Given the description of an element on the screen output the (x, y) to click on. 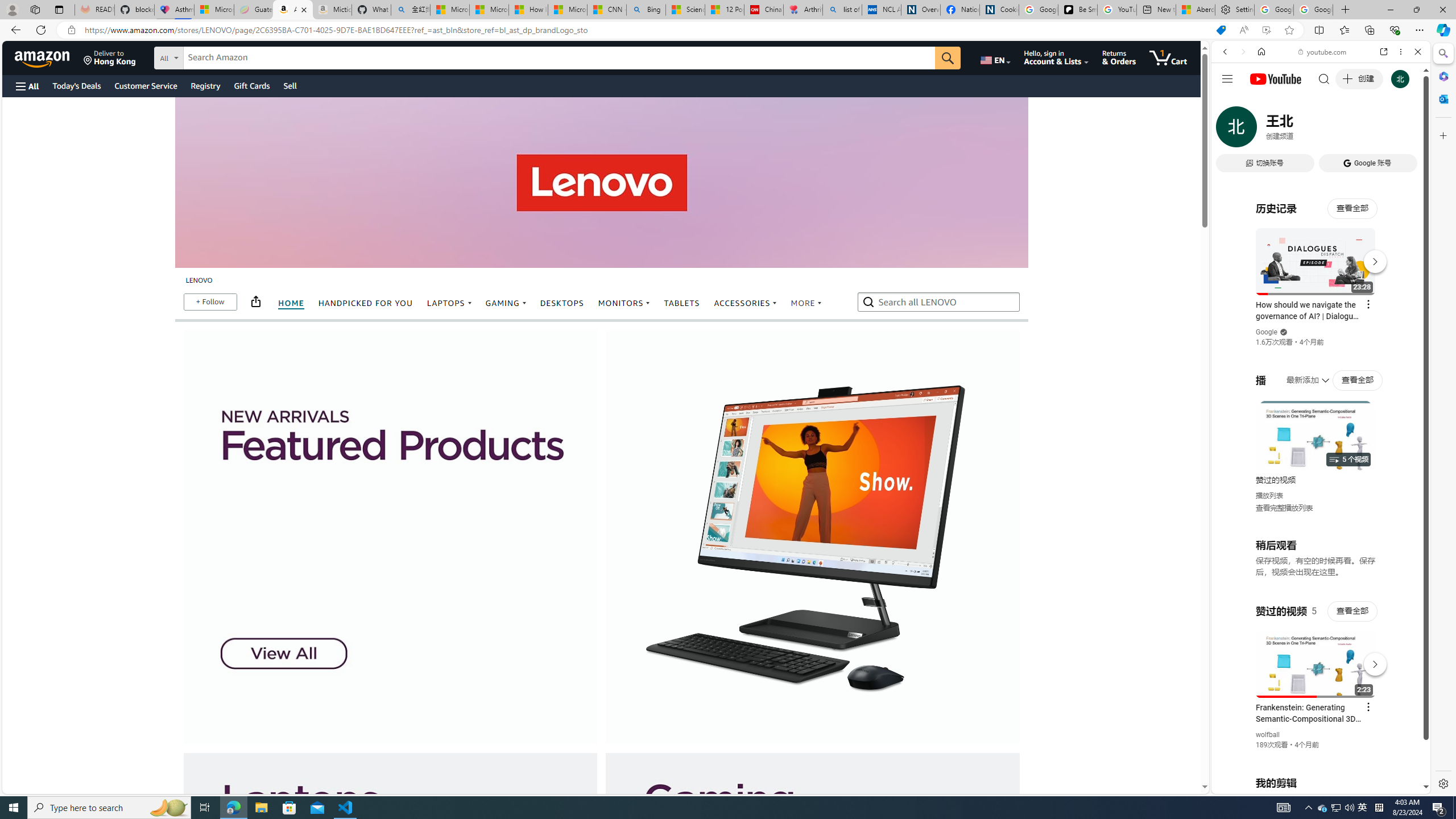
Amazon.com: LENOVO (292, 9)
Today's Deals (76, 85)
Deliver to Hong Kong (109, 57)
HANDPICKED FOR YOU (365, 303)
Search all LENOVO (939, 301)
